Given the description of an element on the screen output the (x, y) to click on. 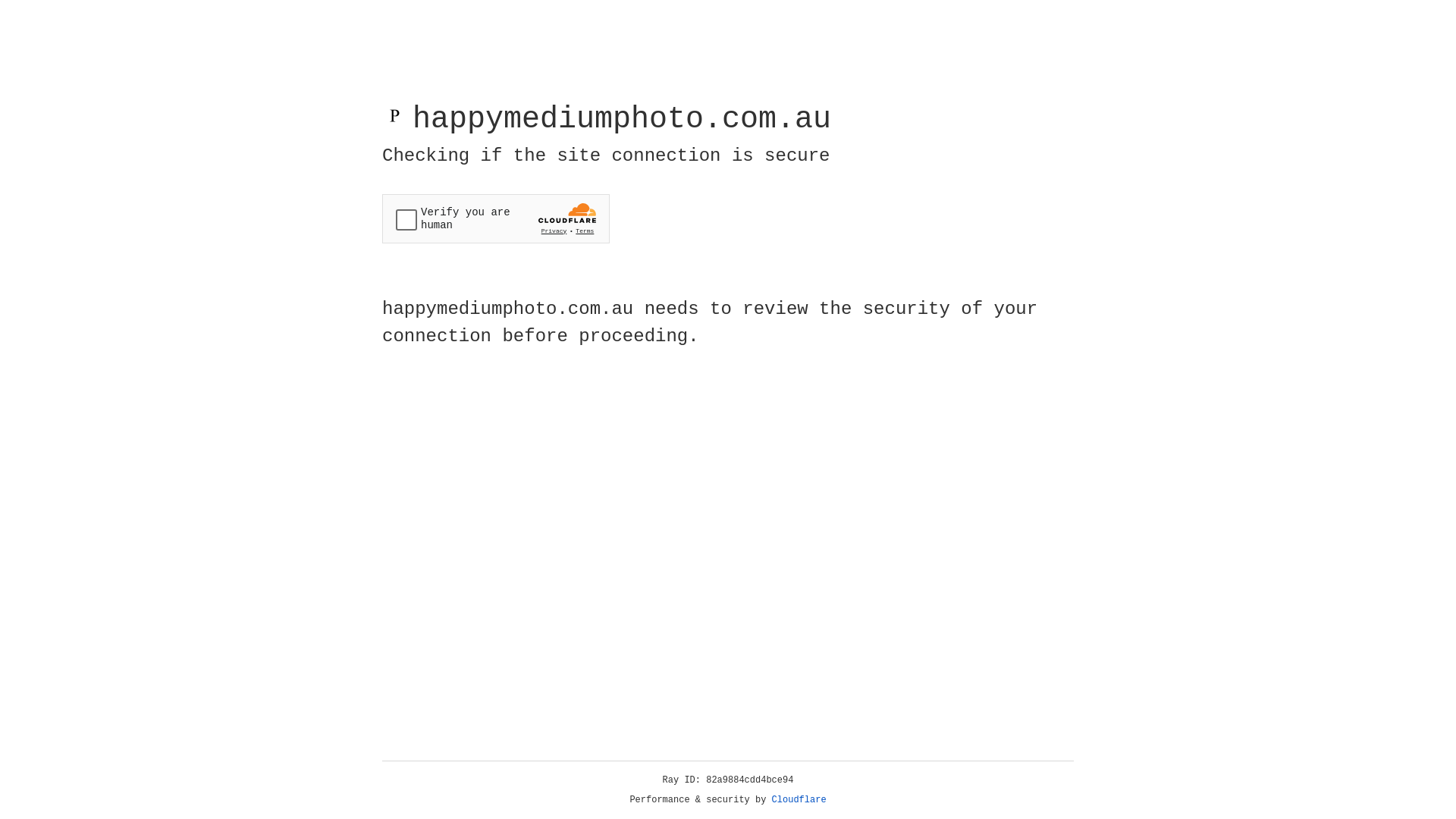
Widget containing a Cloudflare security challenge Element type: hover (495, 218)
Cloudflare Element type: text (798, 799)
